Given the description of an element on the screen output the (x, y) to click on. 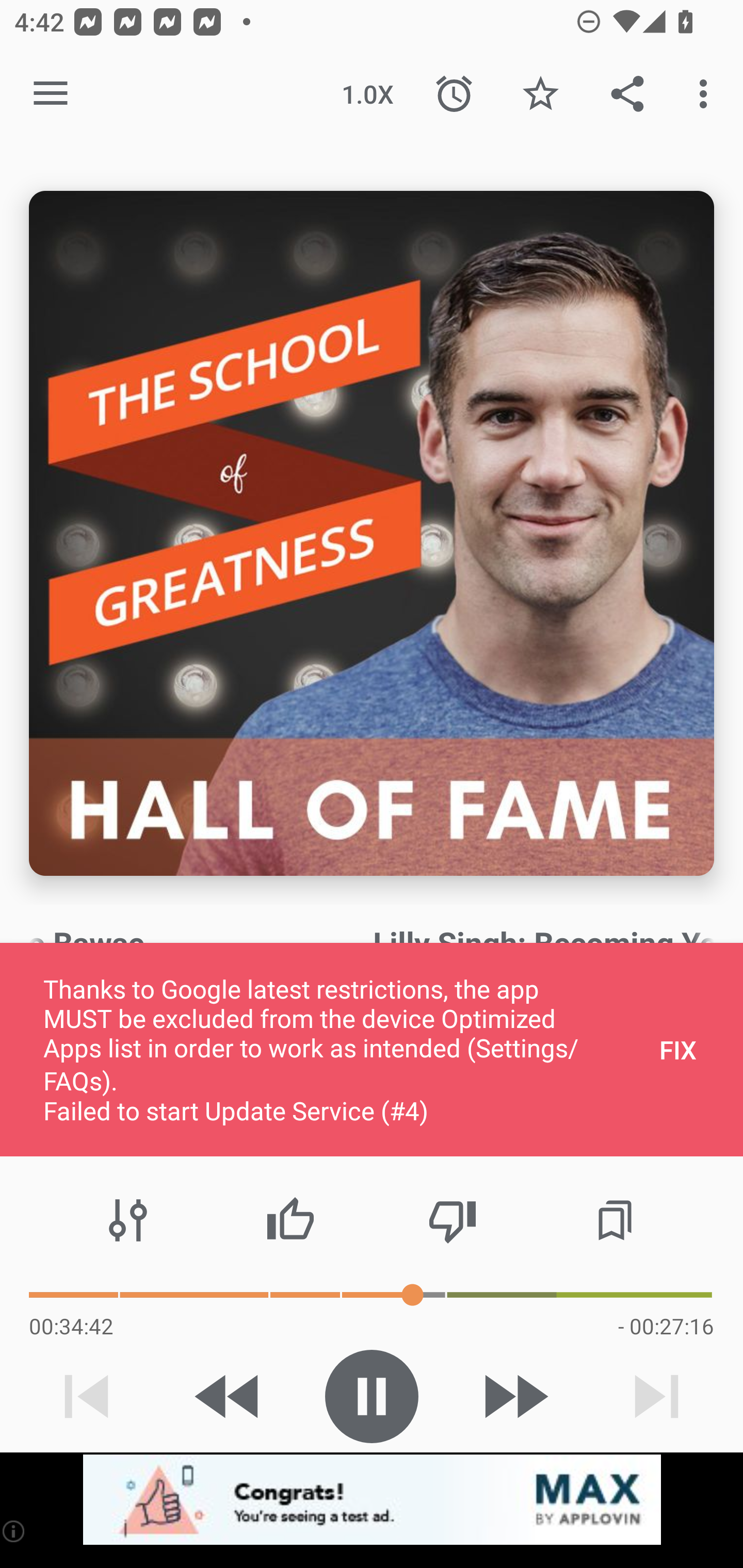
Open navigation sidebar (50, 93)
1.0X (366, 93)
Sleep Timer (453, 93)
Favorite (540, 93)
Share (626, 93)
More options (706, 93)
Episode description (371, 533)
FIX (677, 1049)
Audio effects (127, 1220)
Thumbs up (290, 1220)
Thumbs down (452, 1220)
Chapters / Bookmarks (614, 1220)
- 00:27:16 (666, 1325)
Previous track (86, 1395)
Skip 15s backward (228, 1395)
Play / Pause (371, 1395)
Skip 30s forward (513, 1395)
Next track (656, 1395)
app-monetization (371, 1500)
(i) (14, 1531)
